Given the description of an element on the screen output the (x, y) to click on. 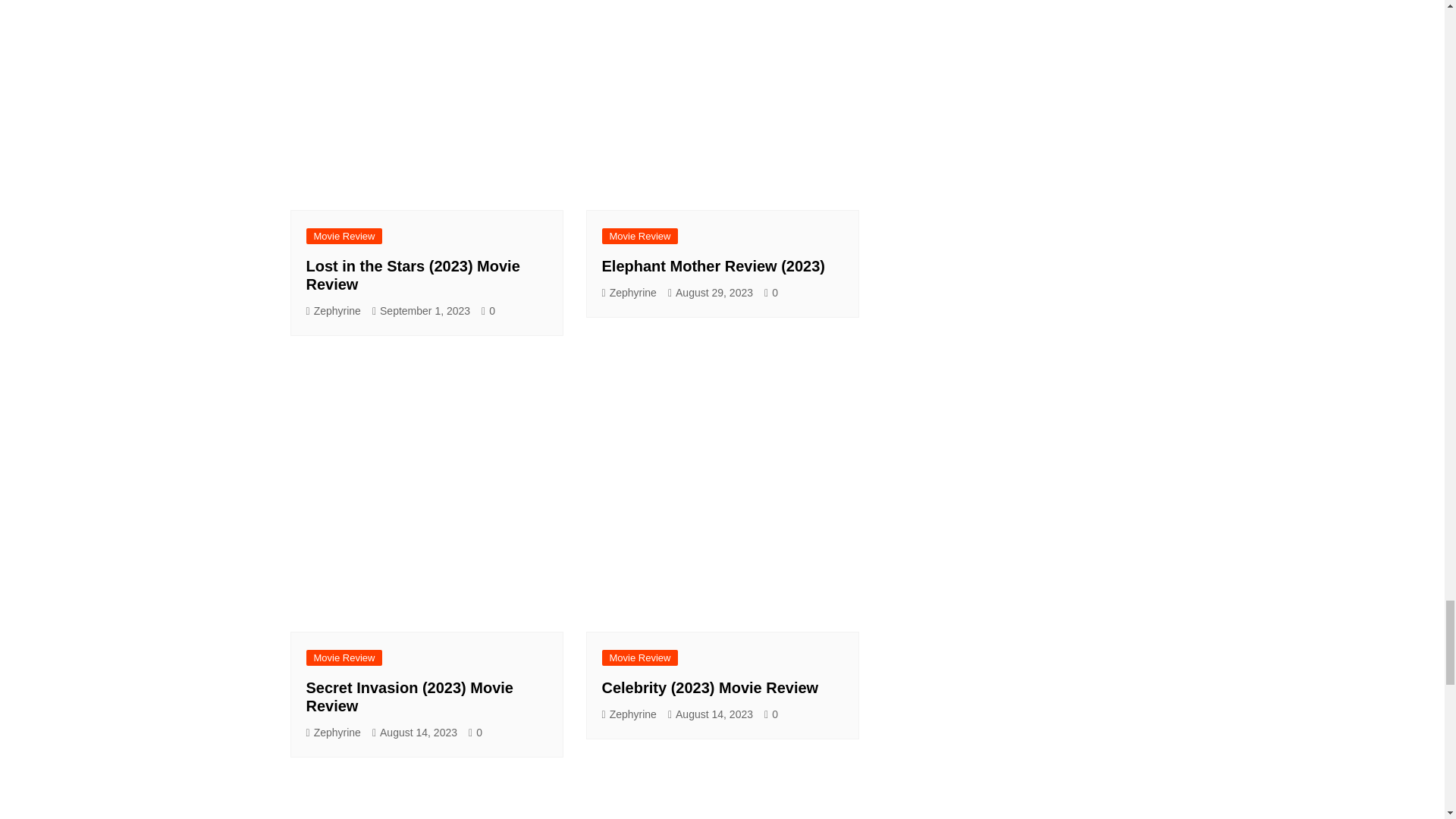
September 1, 2023 (421, 311)
Movie Review (343, 236)
Zephyrine (333, 311)
